Given the description of an element on the screen output the (x, y) to click on. 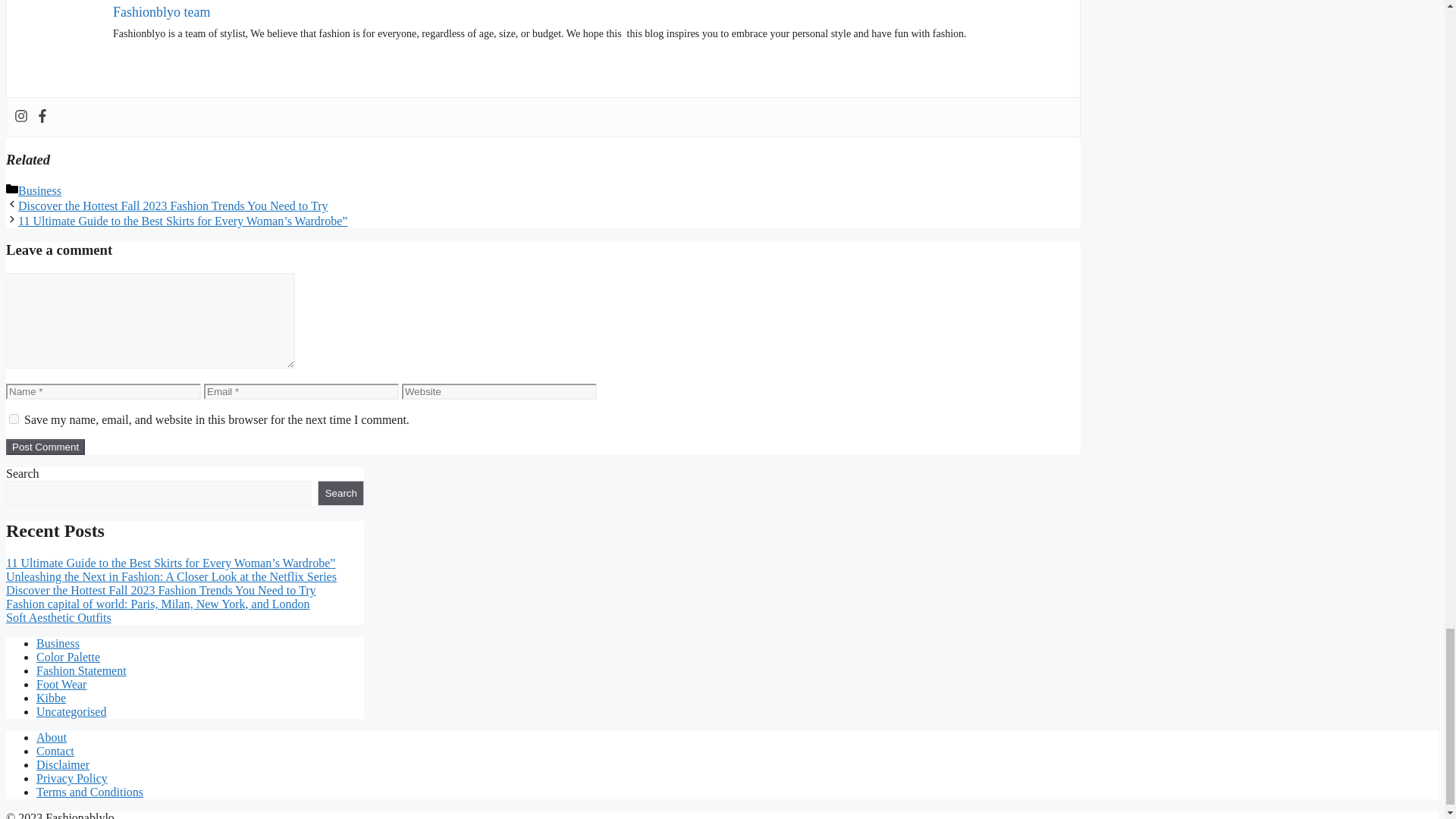
Fashion capital of world: Paris, Milan, New York, and London (156, 603)
yes (13, 419)
Business (39, 190)
Color Palette (68, 656)
Business (58, 643)
Search (340, 493)
Post Comment (44, 446)
Fashionblyo team (162, 11)
Soft Aesthetic Outfits (58, 617)
Post Comment (44, 446)
